Given the description of an element on the screen output the (x, y) to click on. 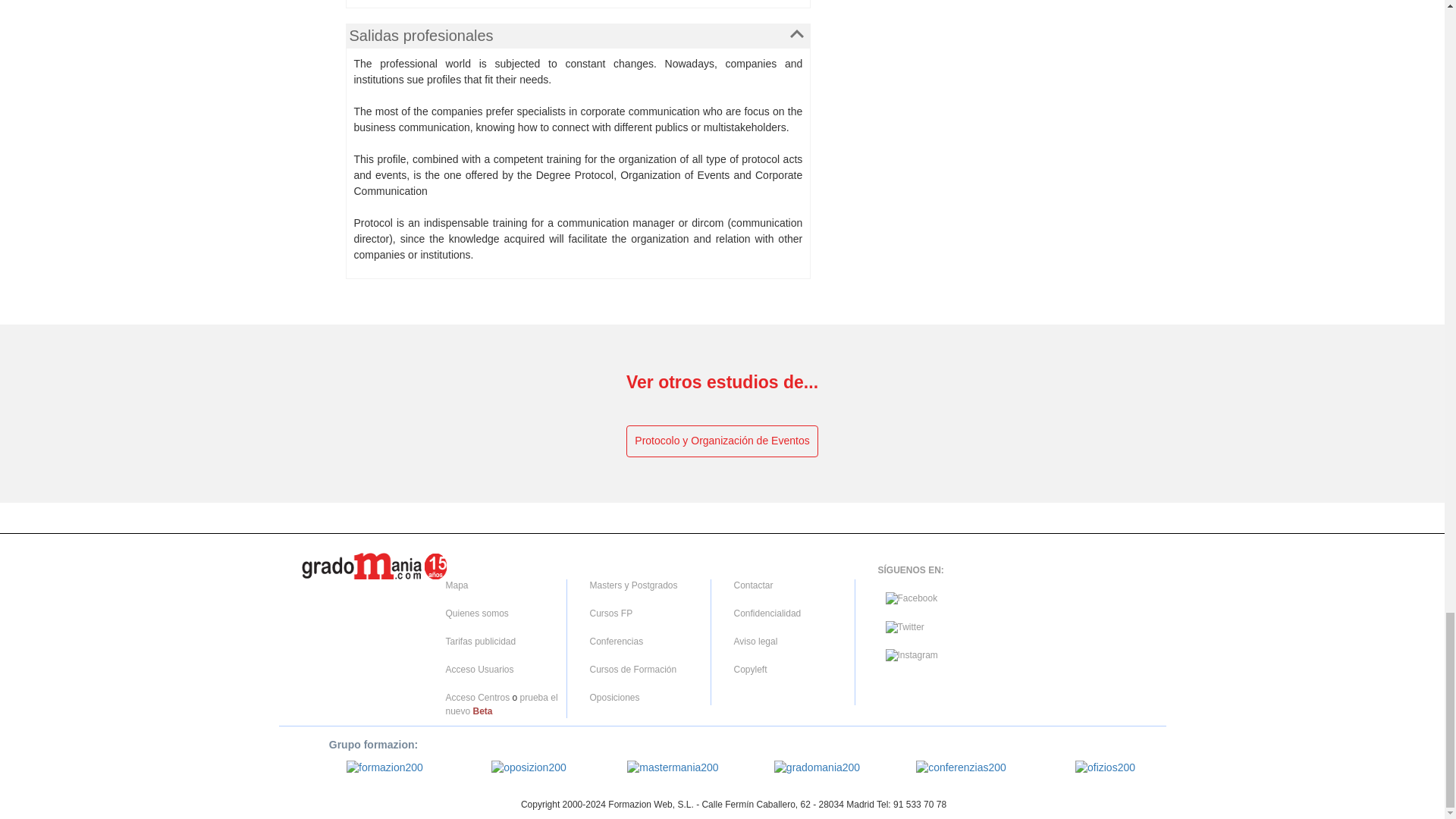
Acceso Usuarios (479, 669)
Quienes somos (476, 613)
Tarifas publicidad (480, 641)
Contactar (753, 584)
Aviso legal (755, 641)
Confidencialidad (767, 613)
Cursos FP (611, 613)
prueba el nuevo Beta (501, 703)
Mapa (456, 584)
Copyleft (750, 669)
